Given the description of an element on the screen output the (x, y) to click on. 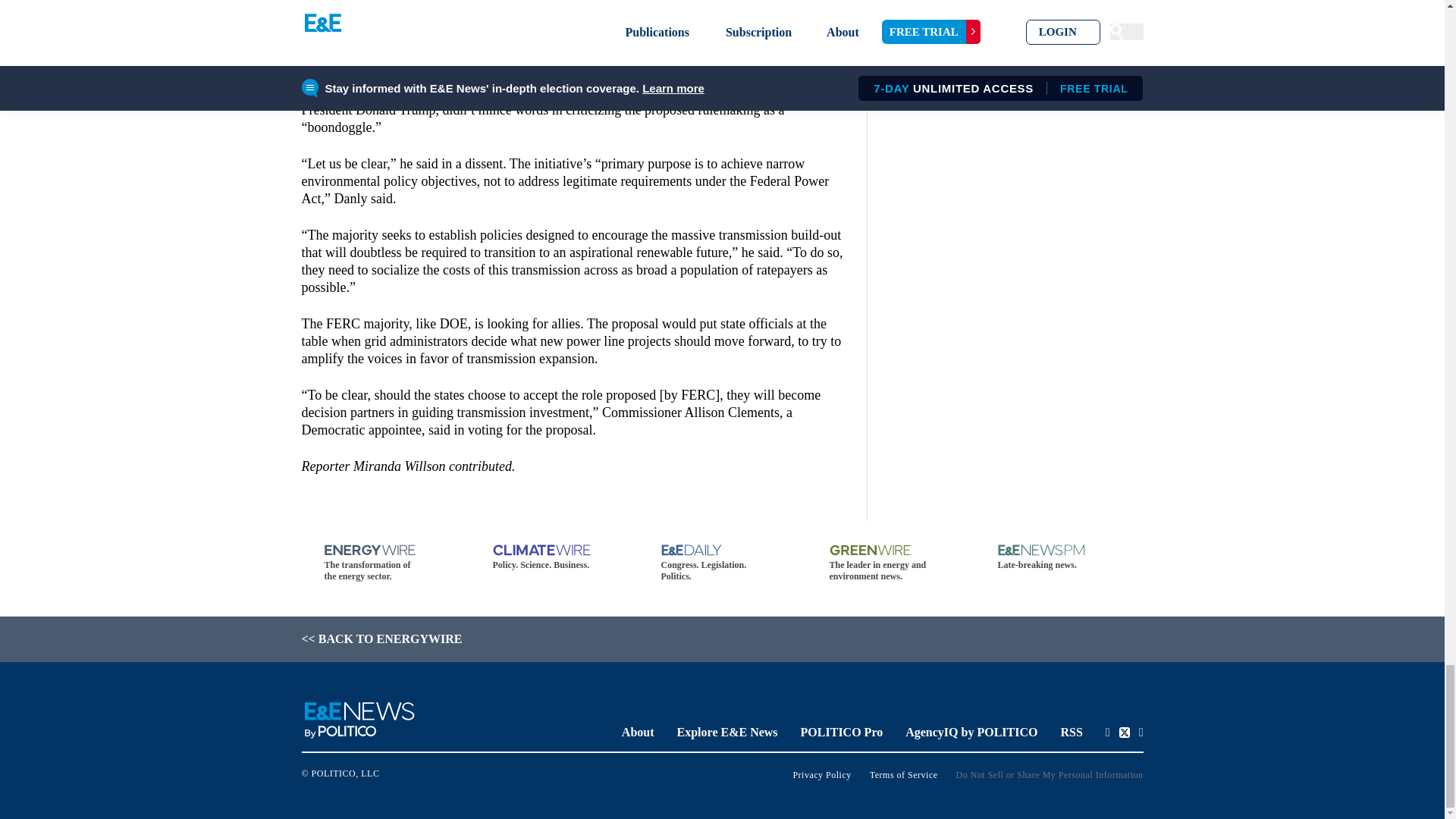
Energywire (562, 55)
Congress. Legislation. Politics. (722, 562)
Late-breaking news. (1058, 556)
Policy. Science. Business. (554, 556)
The leader in energy and environment news. (890, 562)
The transformation of the energy sector. (385, 562)
